Given the description of an element on the screen output the (x, y) to click on. 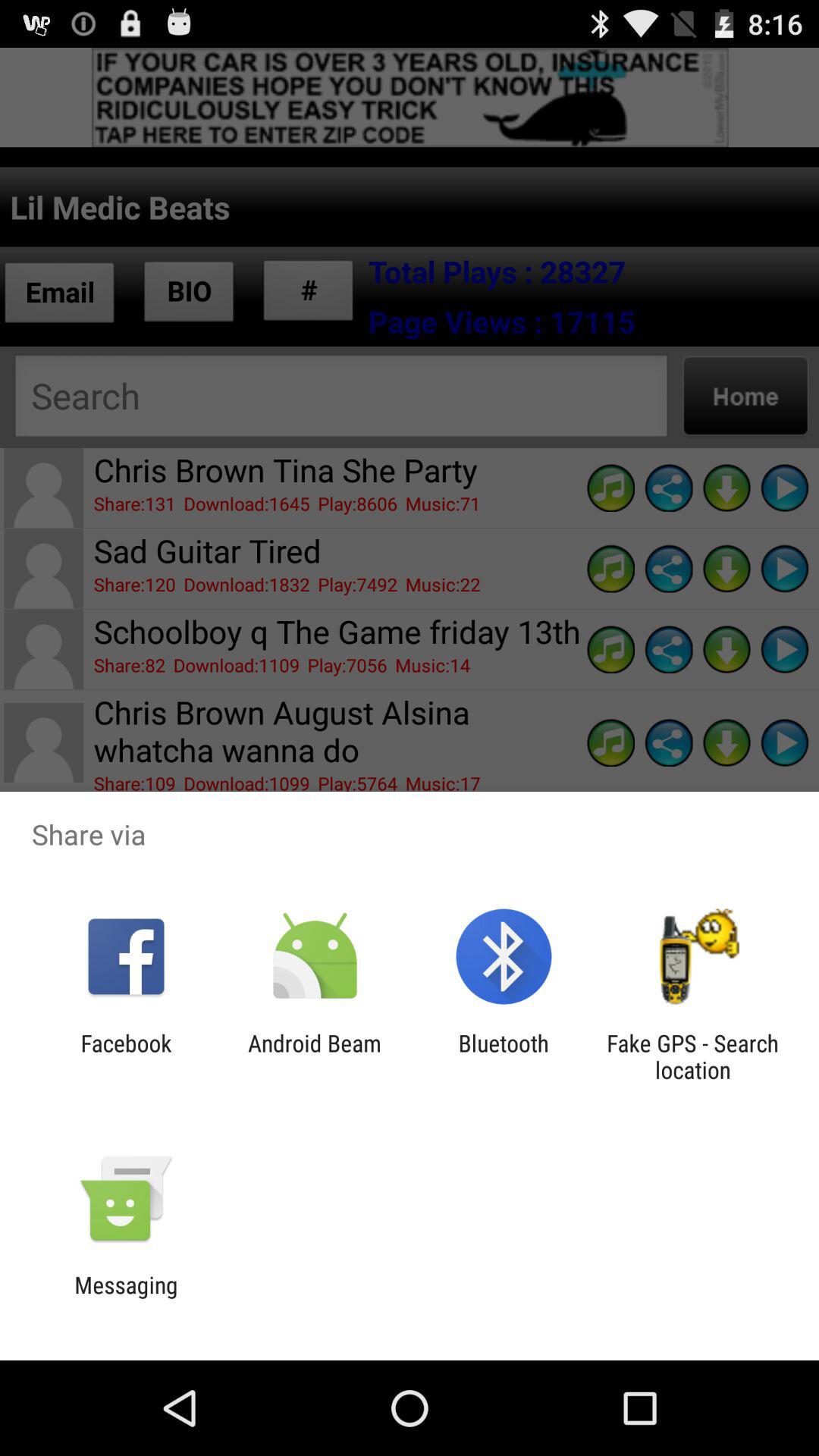
launch fake gps search at the bottom right corner (692, 1056)
